Given the description of an element on the screen output the (x, y) to click on. 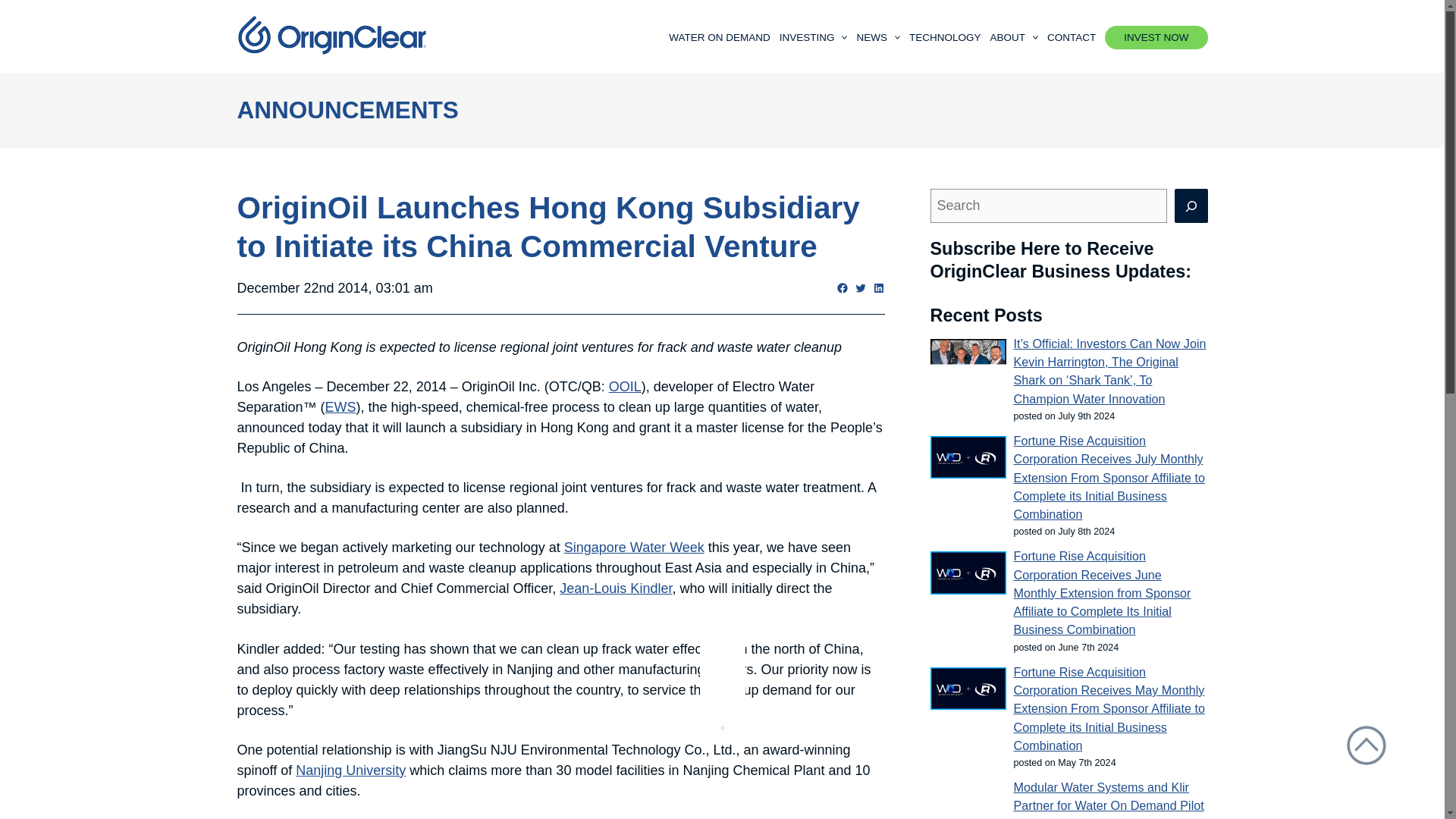
WATER ON DEMAND (719, 37)
CONTACT (1071, 37)
NEWS (877, 37)
INVESTING (812, 37)
INVEST NOW (1156, 37)
TECHNOLOGY (944, 37)
